Given the description of an element on the screen output the (x, y) to click on. 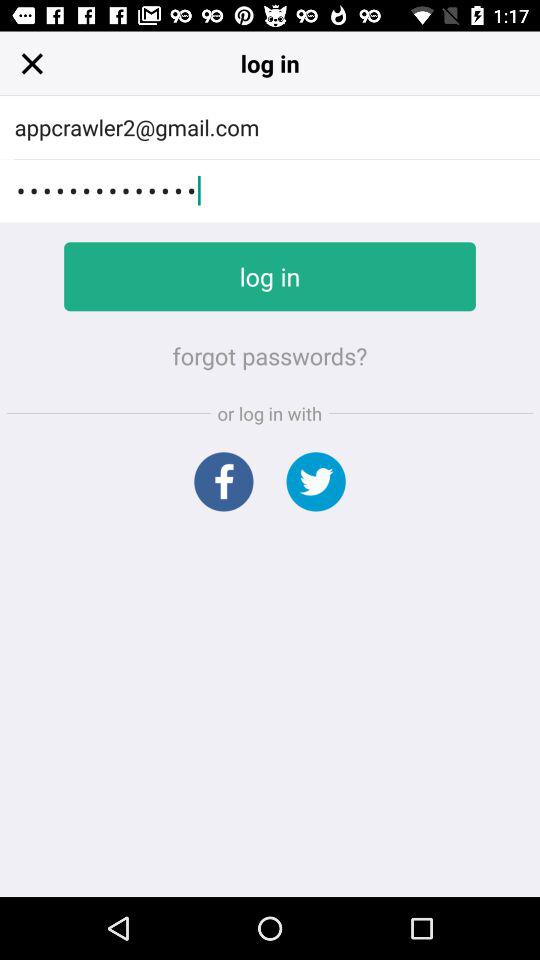
log in with twitter (315, 481)
